Given the description of an element on the screen output the (x, y) to click on. 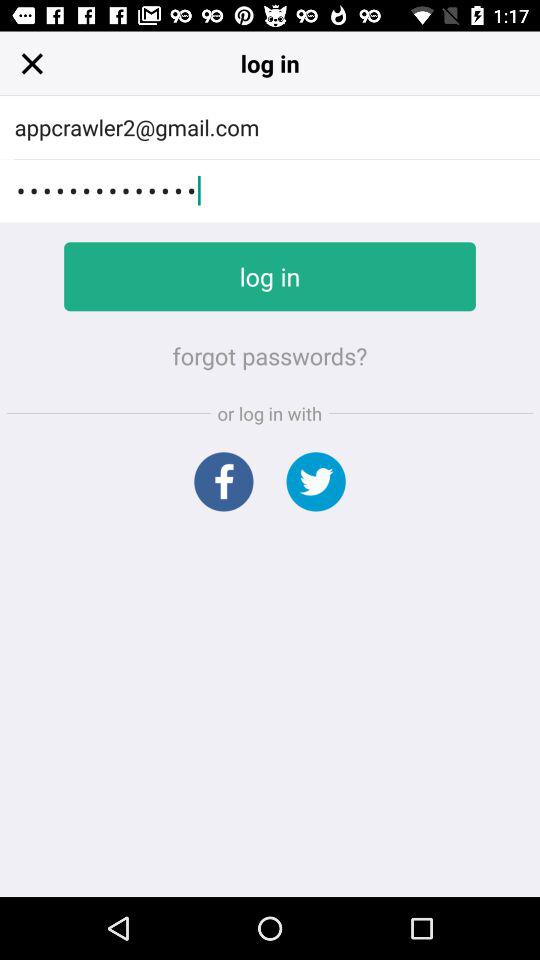
log in with twitter (315, 481)
